Given the description of an element on the screen output the (x, y) to click on. 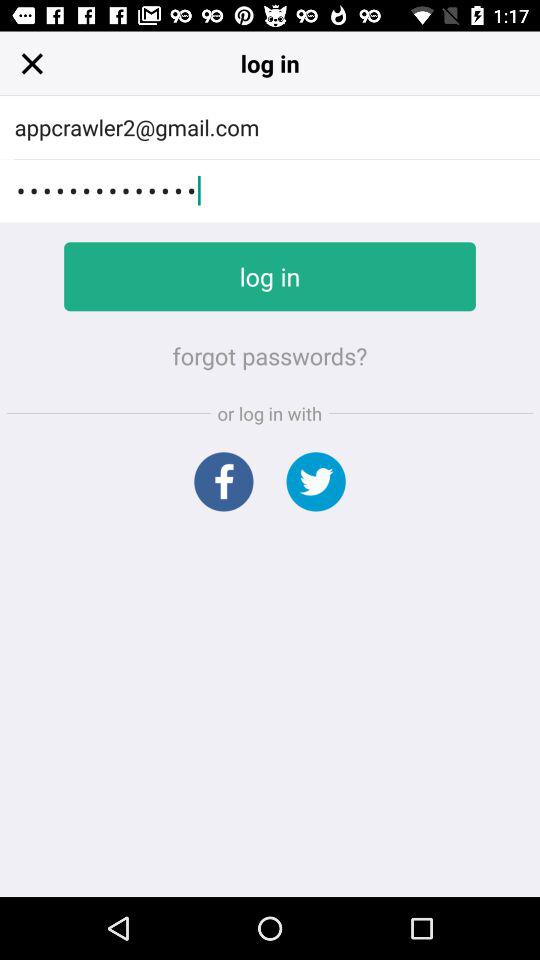
log in with twitter (315, 481)
